Given the description of an element on the screen output the (x, y) to click on. 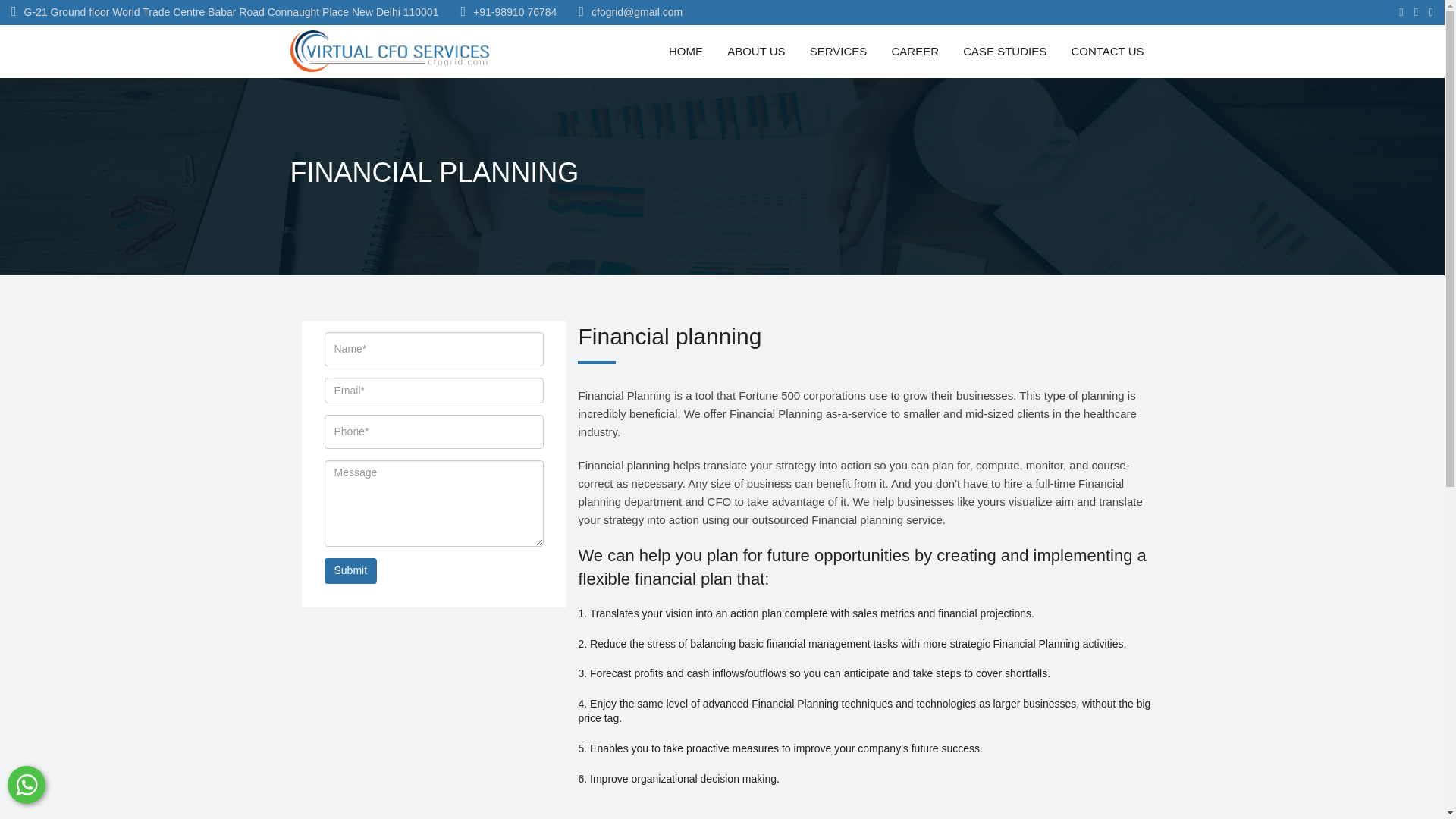
CASE STUDIES (1004, 50)
SERVICES (838, 50)
CONTACT US (1106, 50)
Submit (350, 570)
CAREER (914, 50)
HOME (685, 50)
ABOUT US (755, 50)
